Given the description of an element on the screen output the (x, y) to click on. 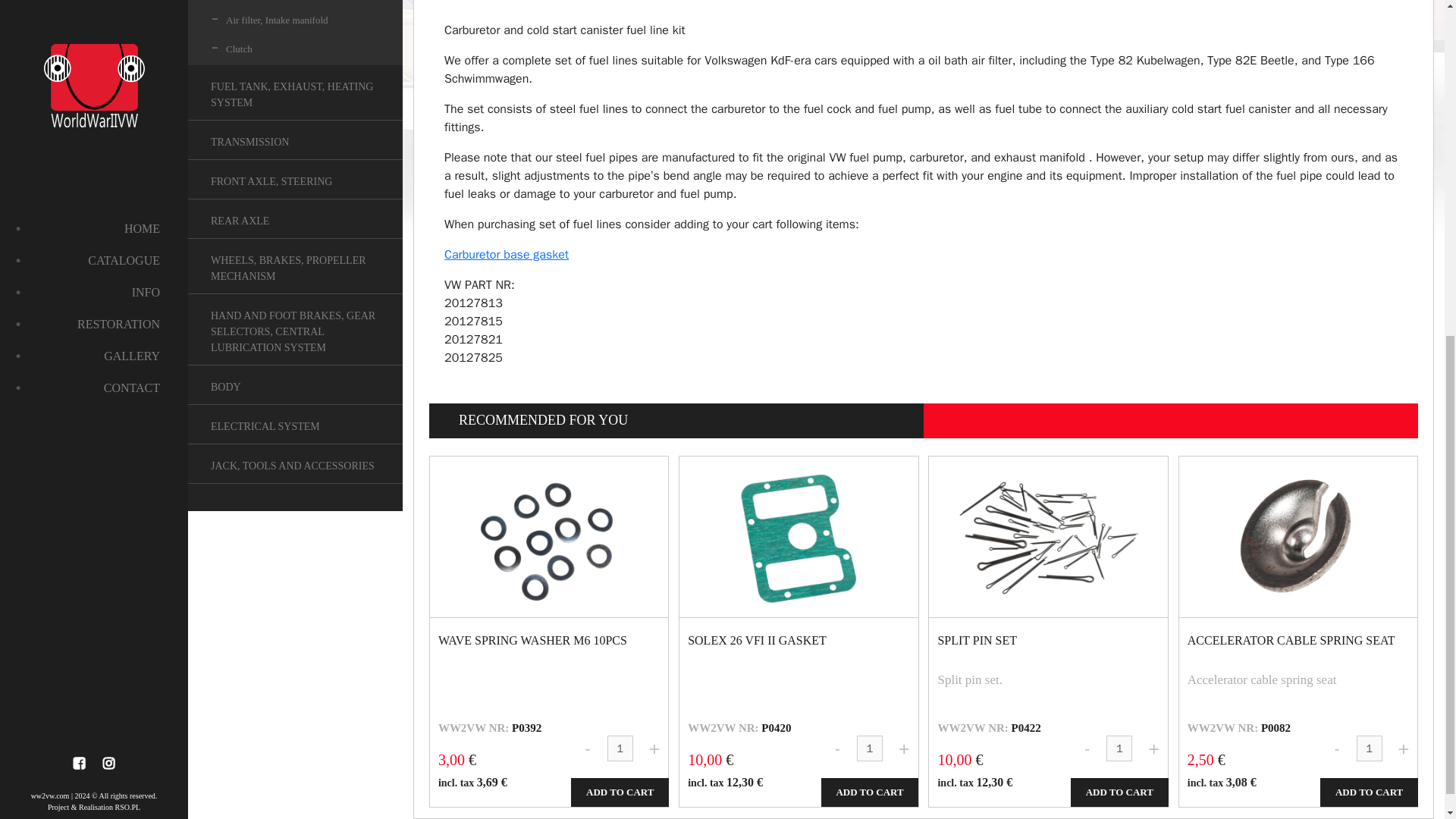
1 (620, 748)
1 (1368, 748)
ww2vw.com (49, 215)
Qty (1368, 748)
Qty (1119, 748)
Qty (620, 748)
RSO.PL (127, 226)
1 (869, 748)
Qty (869, 748)
1 (1119, 748)
